Given the description of an element on the screen output the (x, y) to click on. 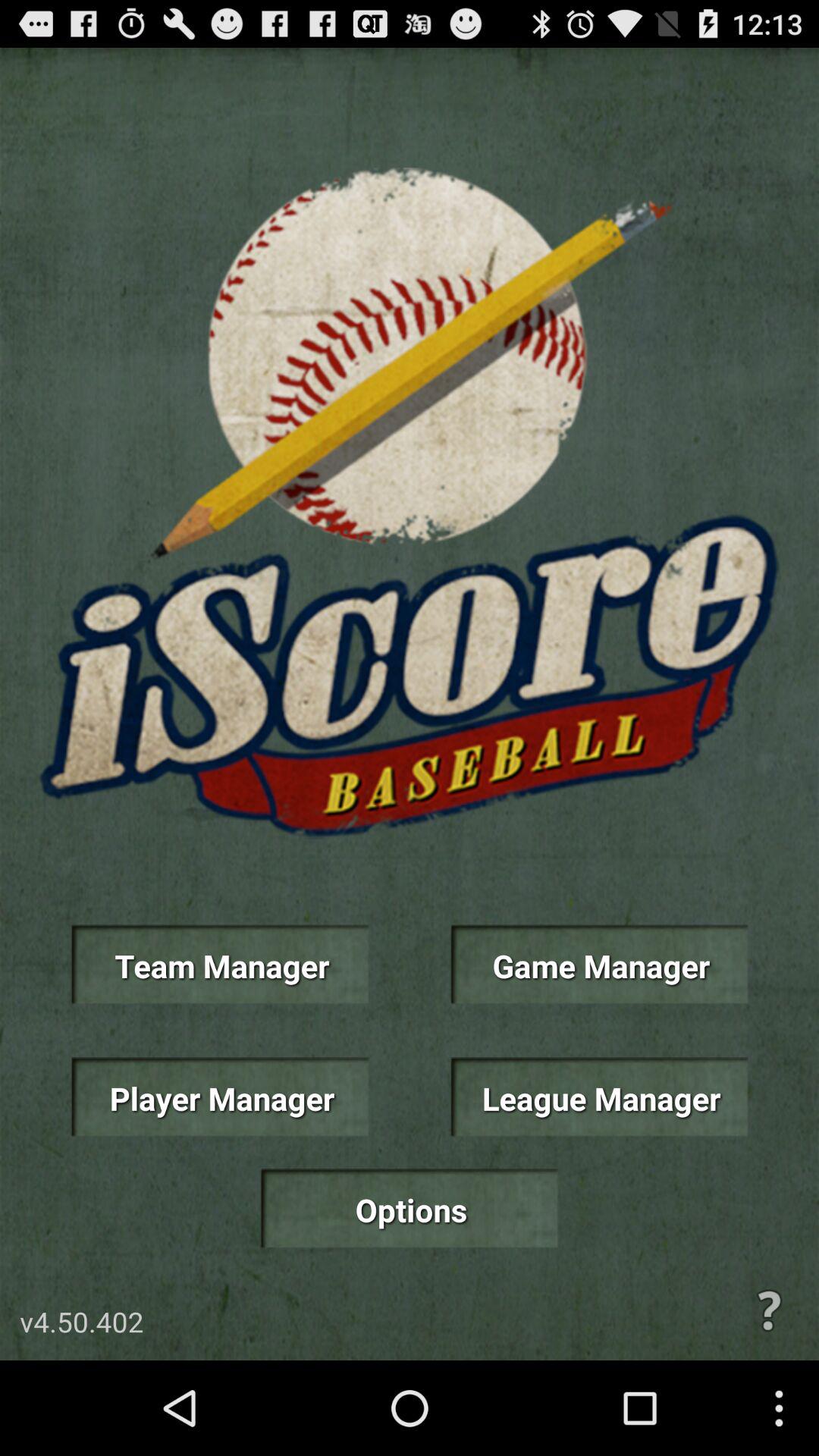
jump to the player manager (219, 1096)
